Given the description of an element on the screen output the (x, y) to click on. 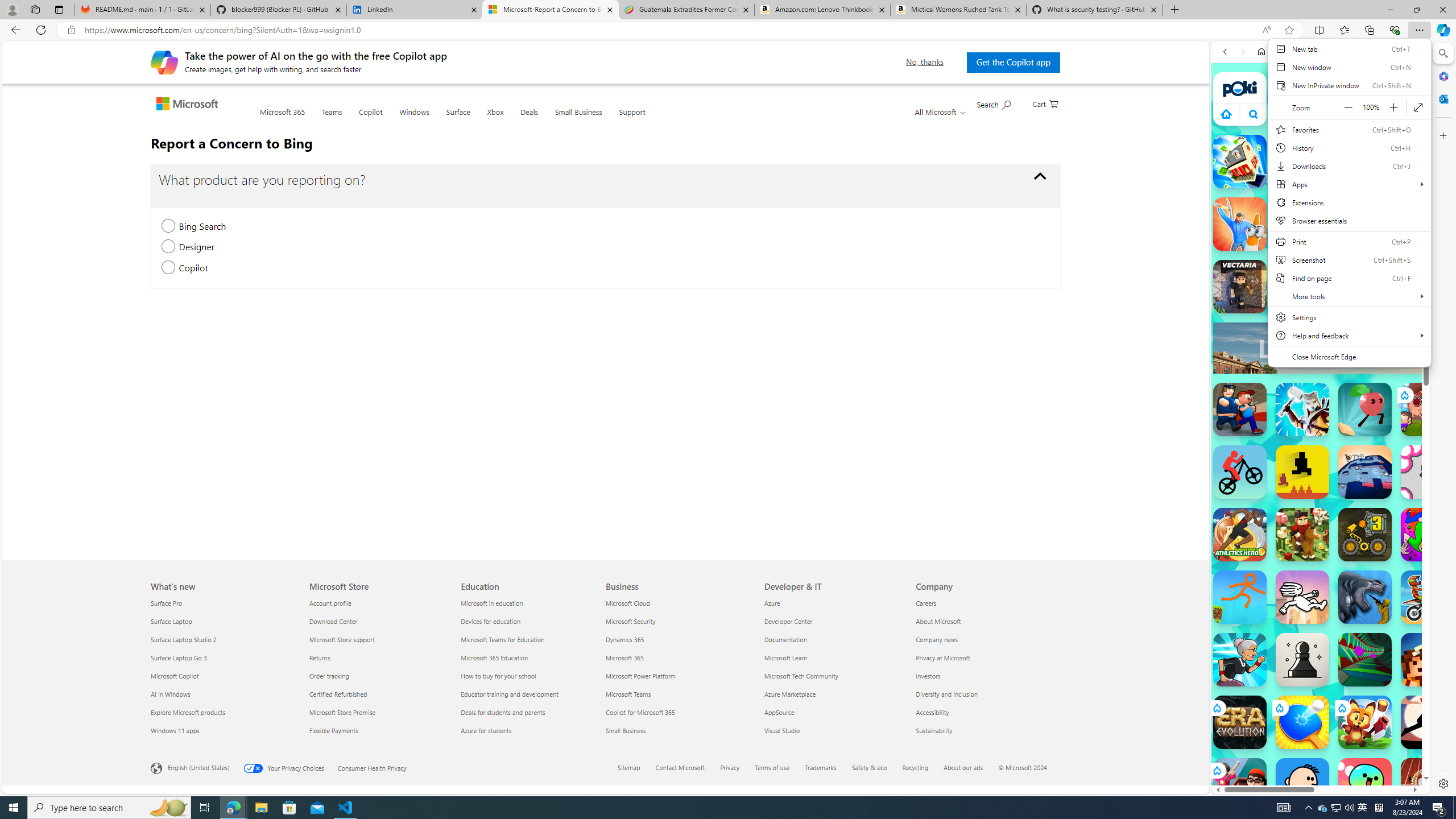
Escape From School (1239, 409)
Microsoft in education Education (491, 602)
Certified Refurbished (377, 693)
Microsoft Teams Business (627, 693)
Designer, new section will be expanded (167, 246)
Simply Prop Hunt (1239, 223)
Microsoft Store support Microsoft Store (341, 638)
Azure Marketplace (833, 693)
Accessibility (984, 711)
Download Center Microsoft Store (333, 620)
Microsoft Store Promise Microsoft Store (341, 711)
Screenshot (1349, 259)
Download Center (377, 620)
Class: B_5ykBA46kDOxiz_R9wm (1253, 113)
